Given the description of an element on the screen output the (x, y) to click on. 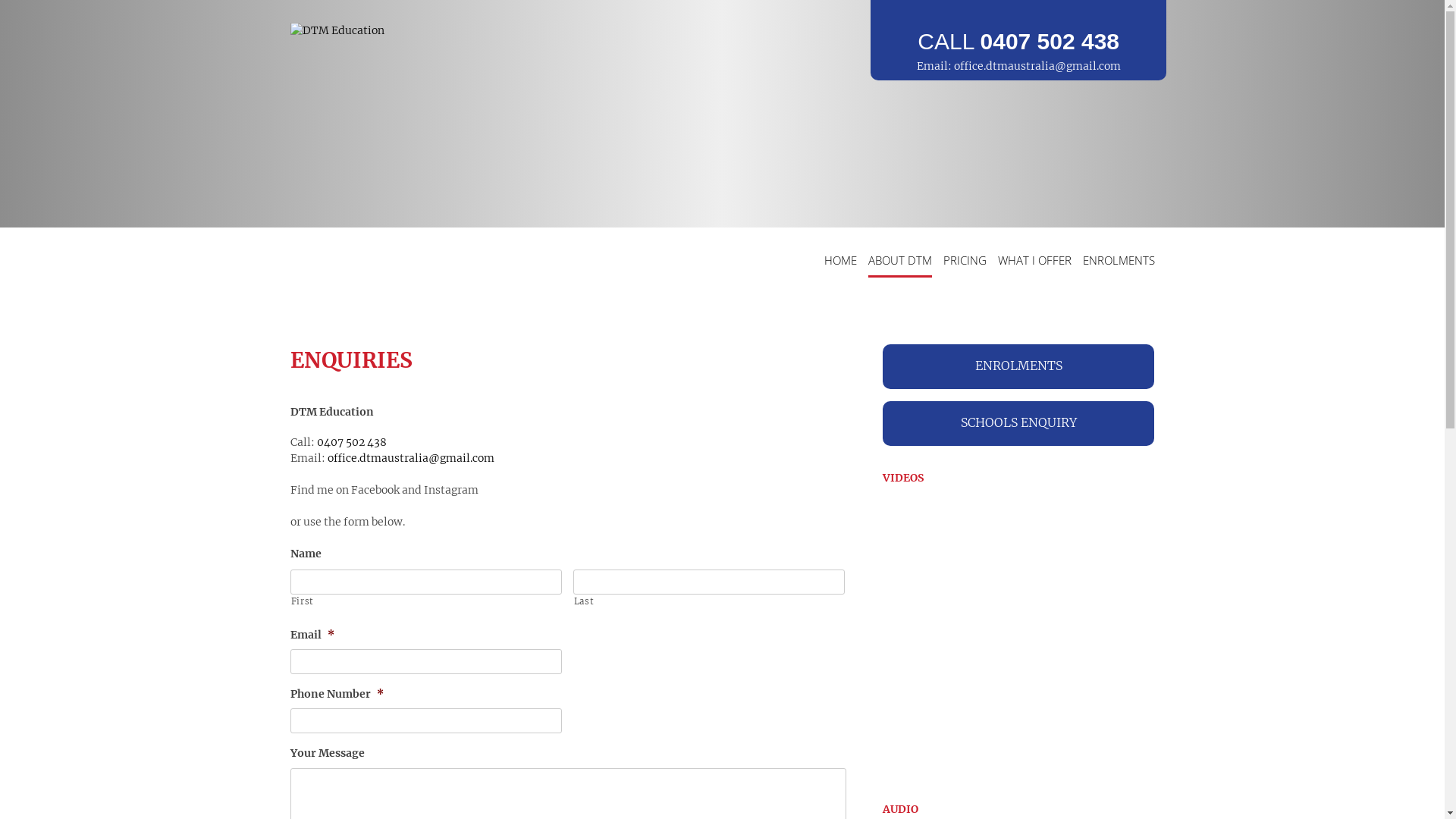
PRICING Element type: text (964, 261)
Email: office.dtmaustralia@gmail.com Element type: text (1018, 66)
ENROLMENTS Element type: text (1018, 366)
WHAT I OFFER Element type: text (1034, 261)
office.dtmaustralia@gmail.com Element type: text (410, 457)
ENROLMENTS Element type: text (1118, 261)
New drum kit = happy drummer Element type: hover (1018, 635)
0407 502 438 Element type: text (351, 441)
ABOUT DTM Element type: text (899, 261)
HOME Element type: text (839, 261)
SCHOOLS ENQUIRY Element type: text (1018, 422)
CALL 0407 502 438 Element type: text (1018, 41)
